Given the description of an element on the screen output the (x, y) to click on. 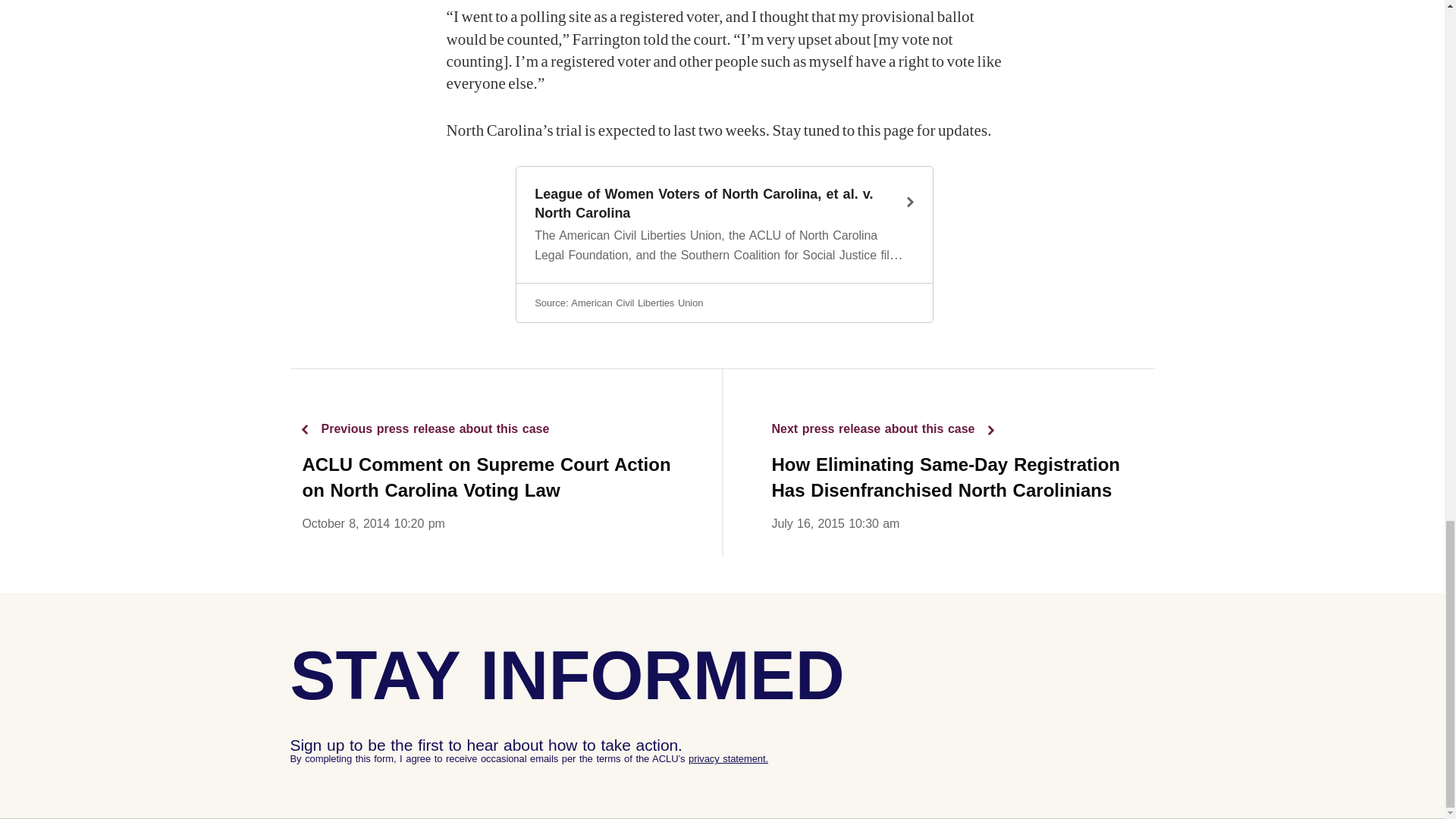
privacy statement. (728, 758)
